Given the description of an element on the screen output the (x, y) to click on. 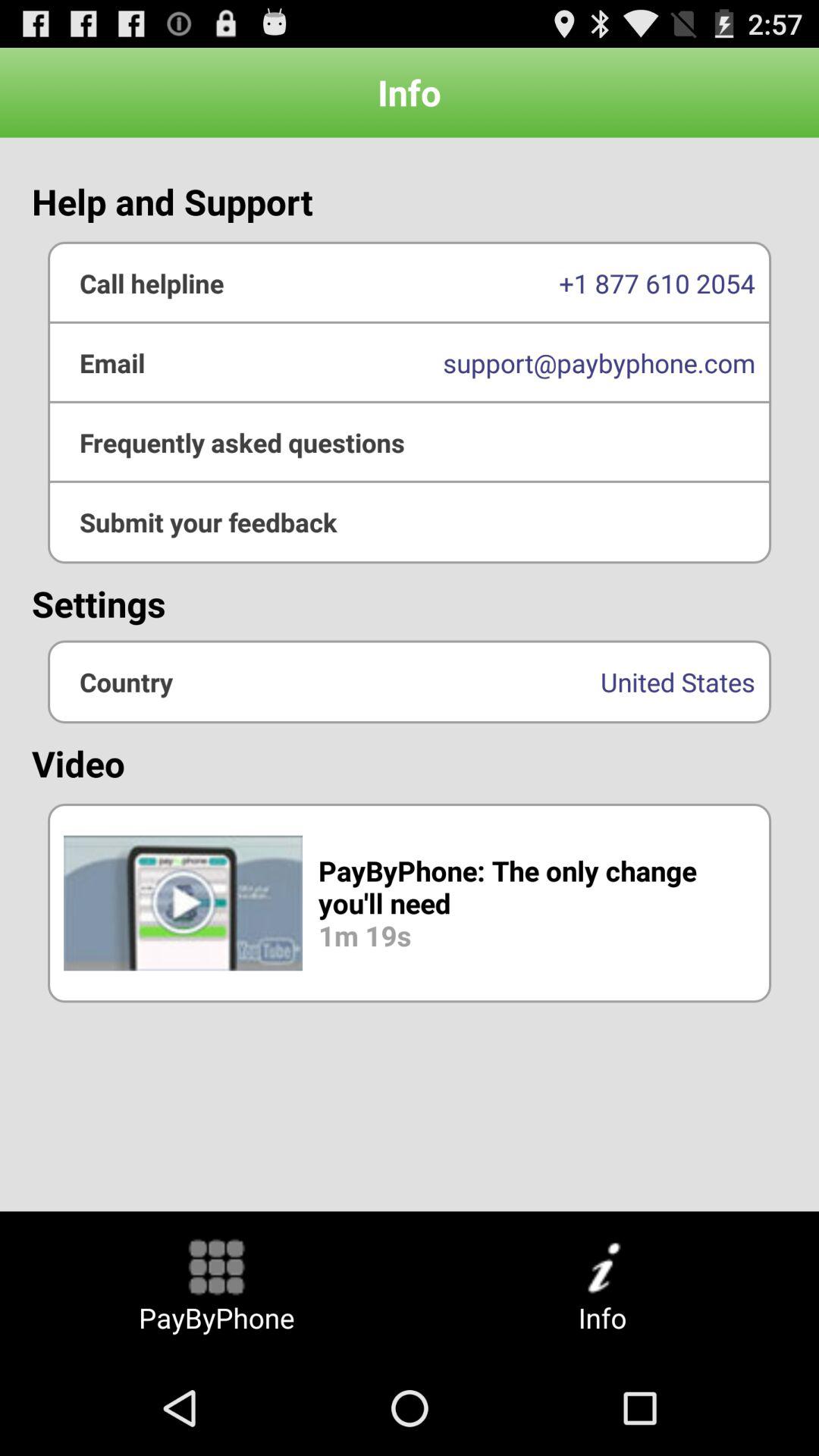
open faq (409, 442)
